Given the description of an element on the screen output the (x, y) to click on. 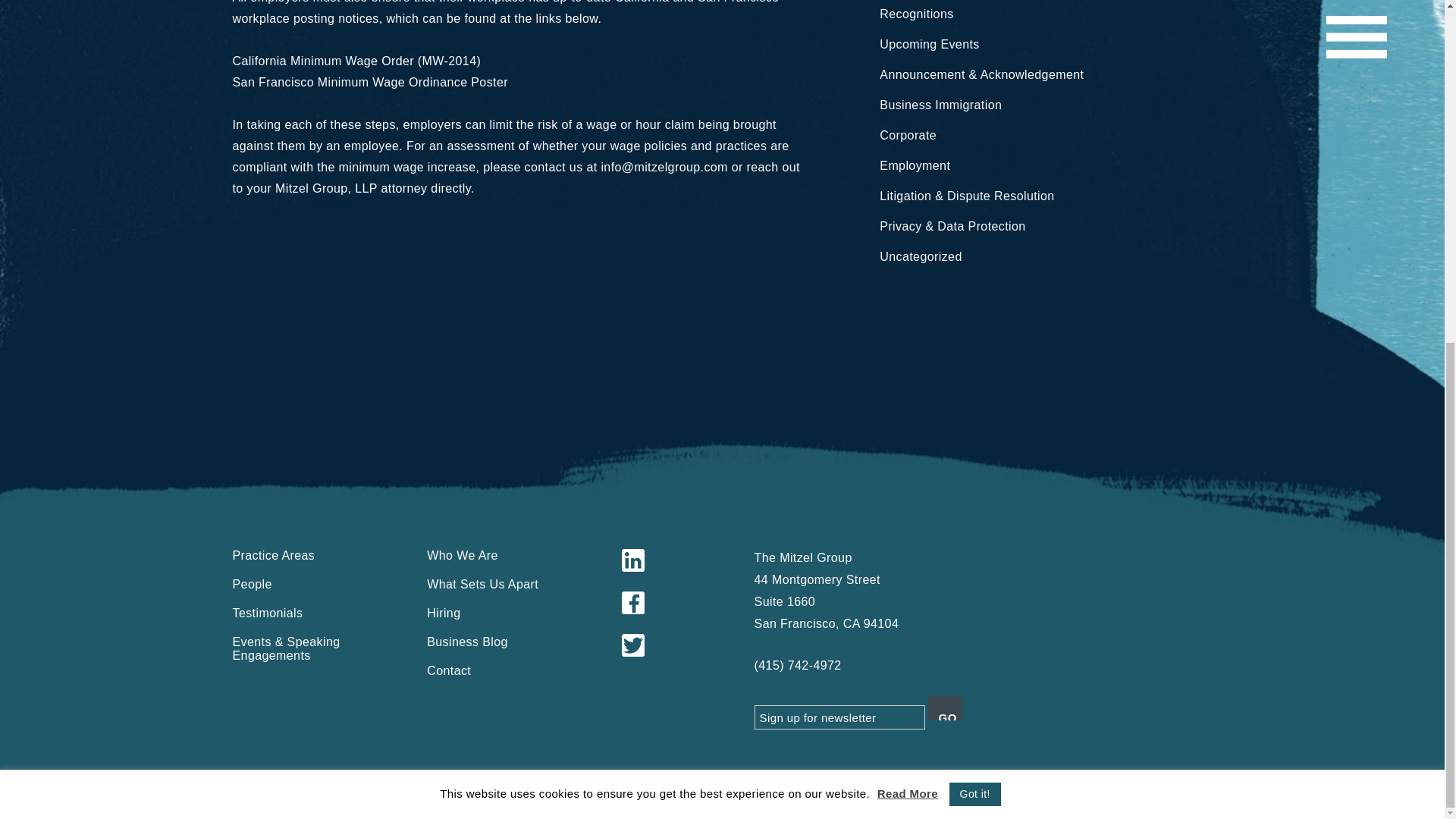
Who We Are (461, 554)
Testimonials (267, 612)
What Sets Us Apart (482, 584)
Hiring (443, 612)
Contact (448, 670)
People (252, 584)
Go (945, 708)
Business Immigration (940, 104)
Practice Areas (273, 554)
Recognitions (916, 13)
Corporate (907, 134)
San Francisco Minimum Wage Ordinance Poster (370, 82)
Upcoming Events (928, 43)
SF Minimum Wage (370, 82)
Employment (914, 164)
